Given the description of an element on the screen output the (x, y) to click on. 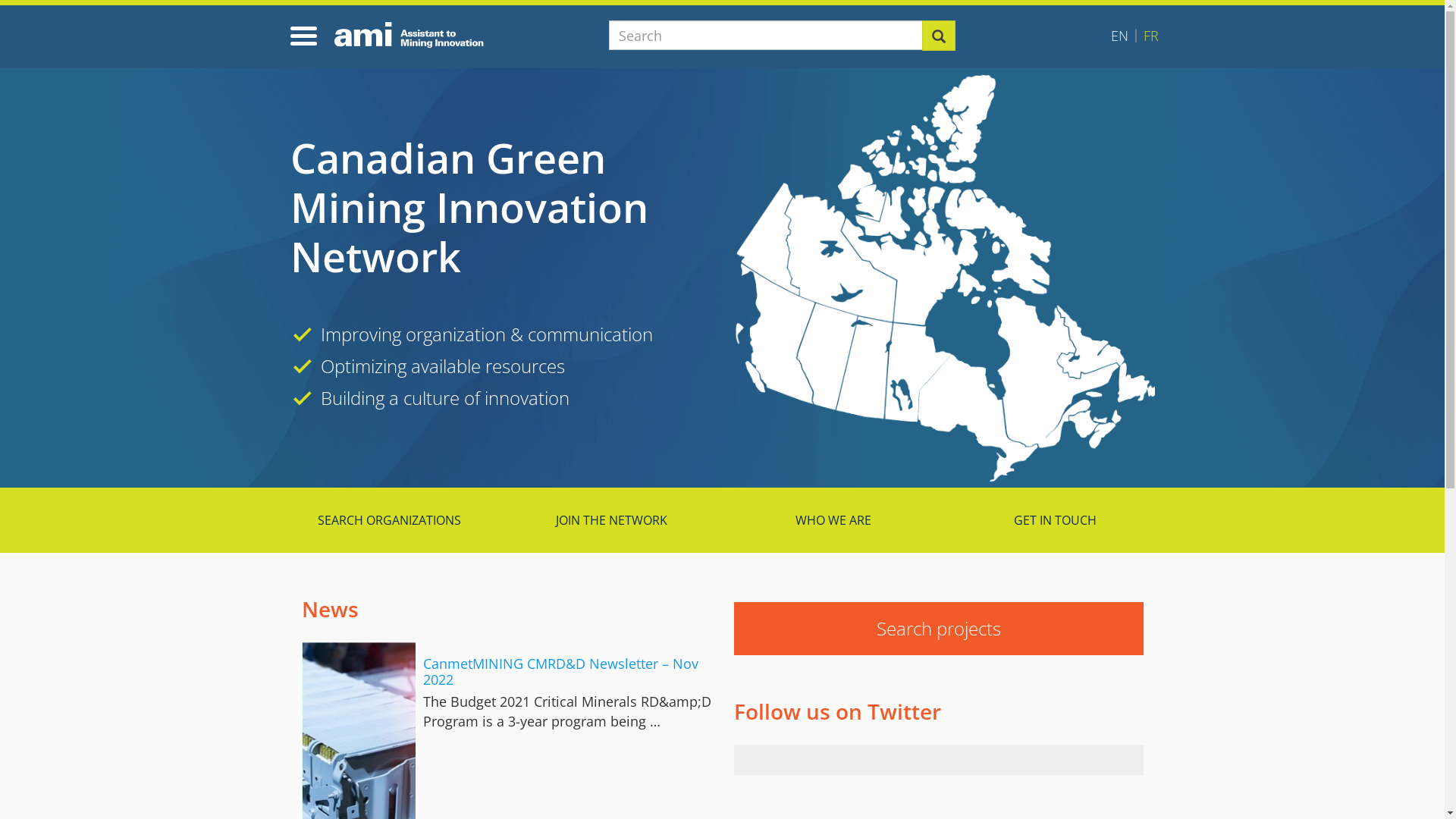
Skip to main content Element type: text (0, 65)
Search projects Element type: text (938, 628)
EN Element type: text (1118, 35)
SEARCH ORGANIZATIONS Element type: text (389, 519)
FR Element type: text (1150, 35)
JOIN THE NETWORK Element type: text (611, 519)
Search Element type: text (938, 35)
GET IN TOUCH Element type: text (1054, 519)
Home Element type: text (413, 34)
WHO WE ARE Element type: text (833, 519)
